Given the description of an element on the screen output the (x, y) to click on. 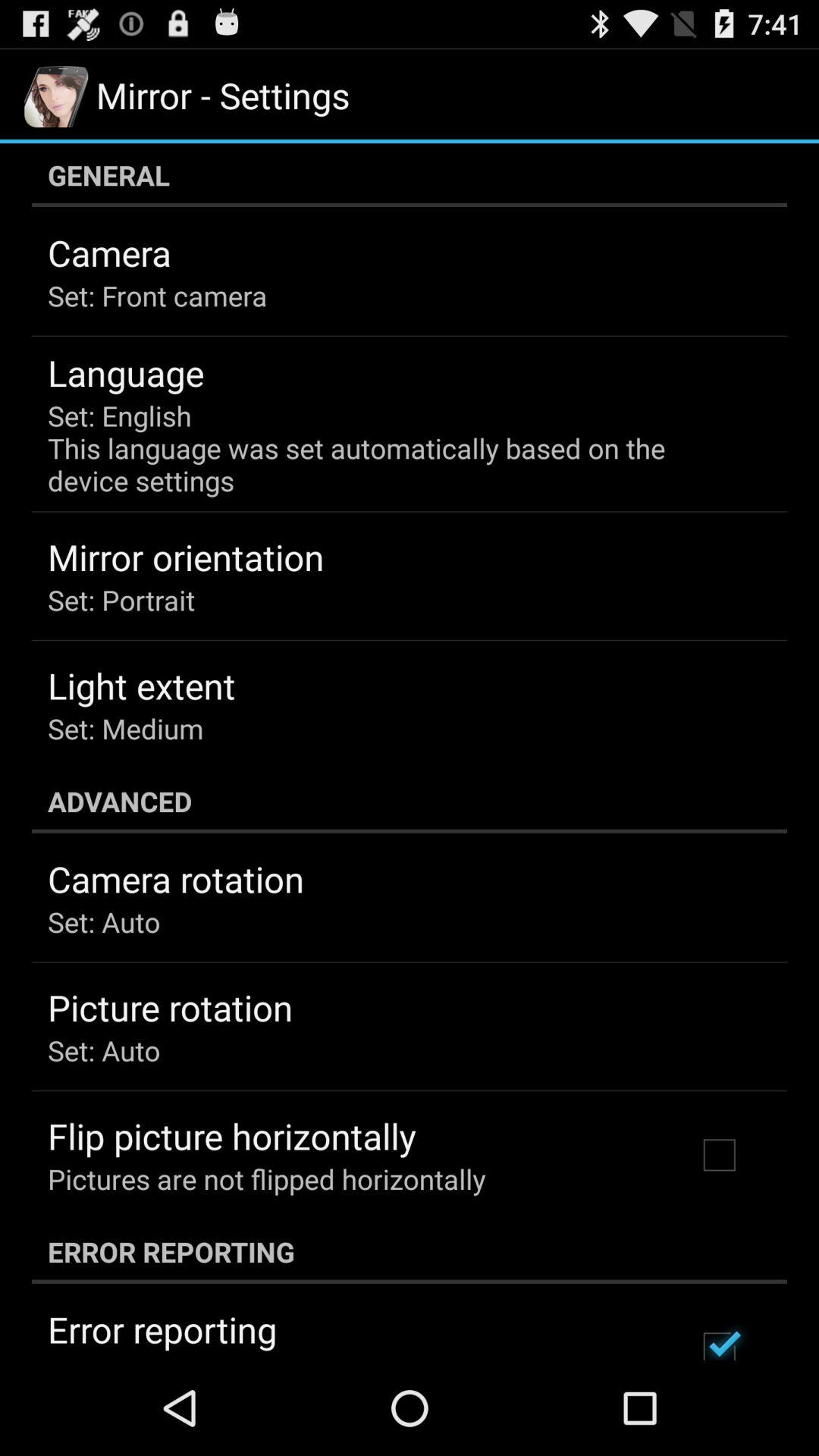
swipe until the flip picture horizontally app (231, 1135)
